Given the description of an element on the screen output the (x, y) to click on. 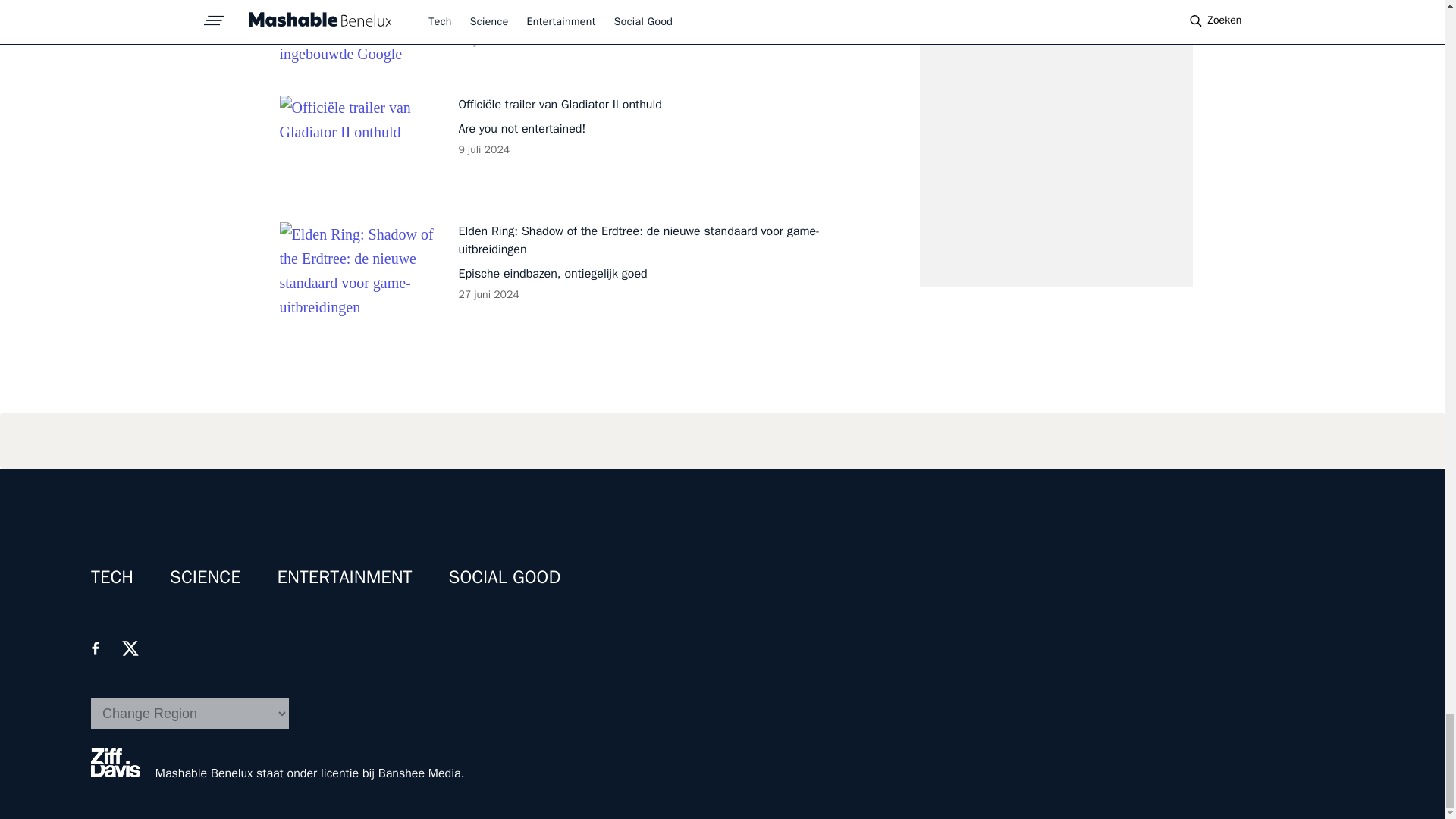
TECH (111, 576)
SCIENCE (205, 576)
